Given the description of an element on the screen output the (x, y) to click on. 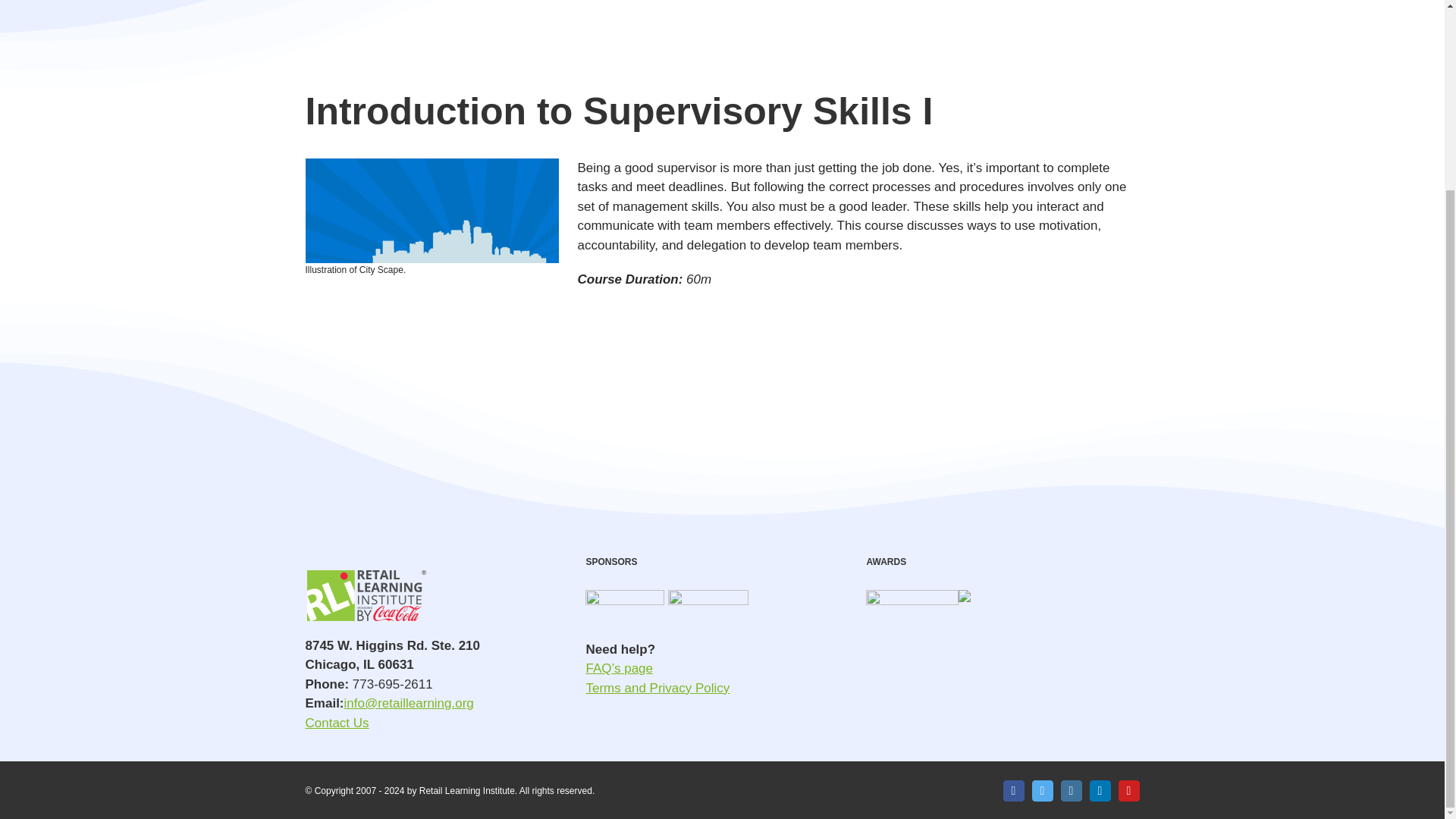
LinkedIn (1099, 790)
Facebook (1013, 790)
YouTube (1128, 790)
Instagram (1070, 790)
Twitter (1041, 790)
